Given the description of an element on the screen output the (x, y) to click on. 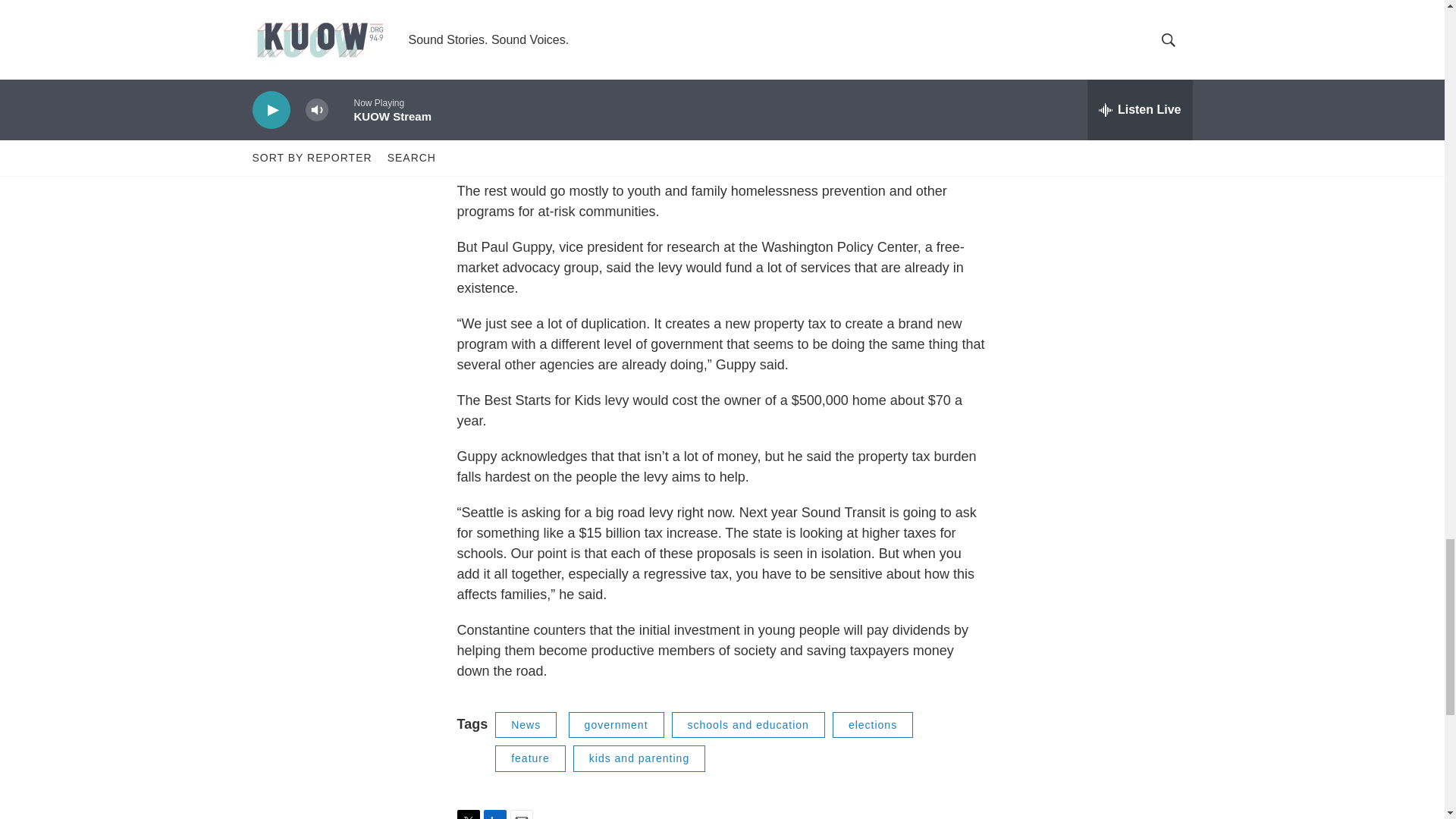
Twitter (468, 814)
elections (872, 724)
kids and parenting (638, 758)
News (525, 724)
Email (520, 814)
government (616, 724)
LinkedIn (494, 814)
feature (530, 758)
schools and education (748, 724)
